Given the description of an element on the screen output the (x, y) to click on. 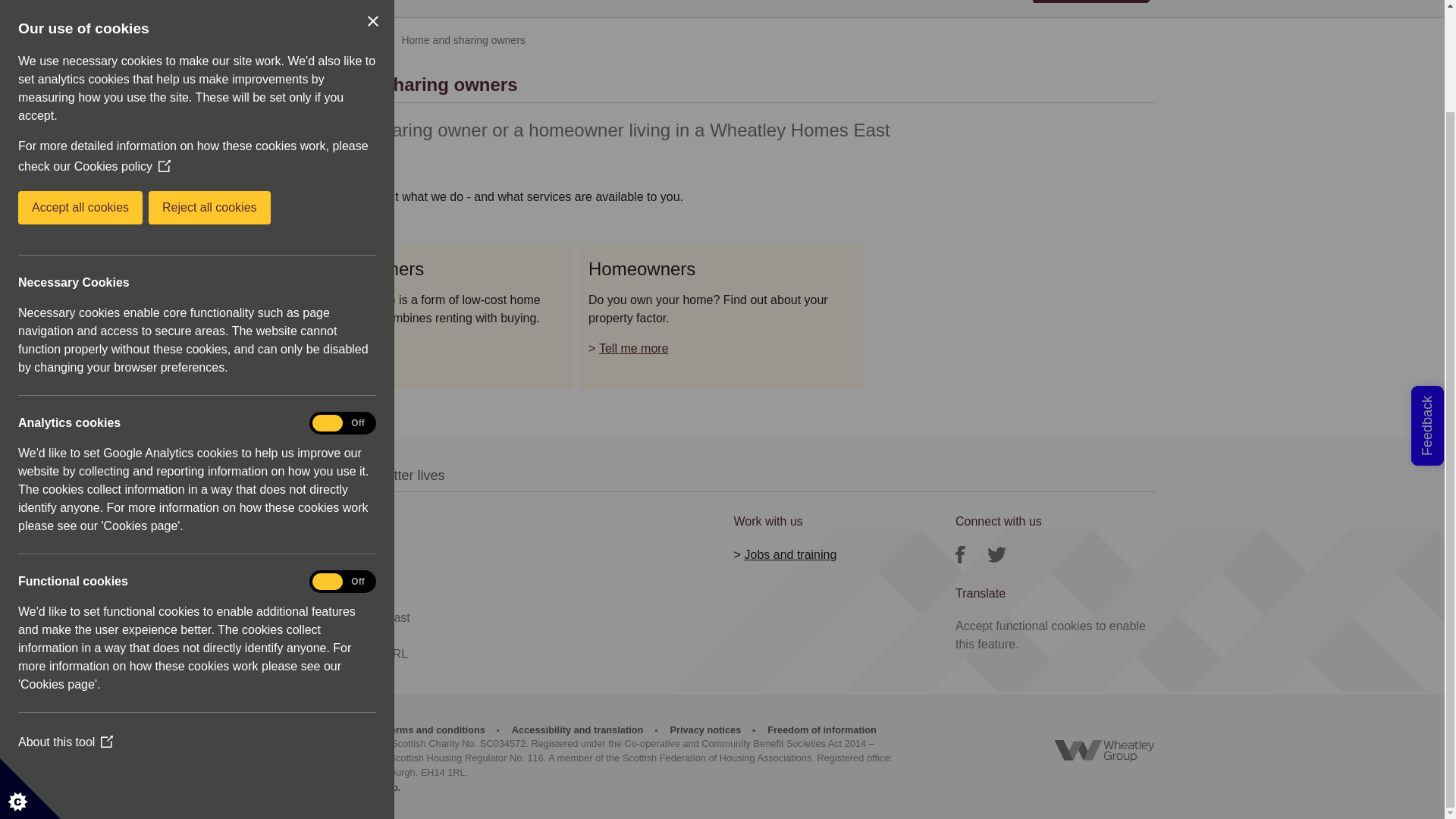
My home (359, 39)
Reject all cookies (35, 89)
Home (303, 39)
